Given the description of an element on the screen output the (x, y) to click on. 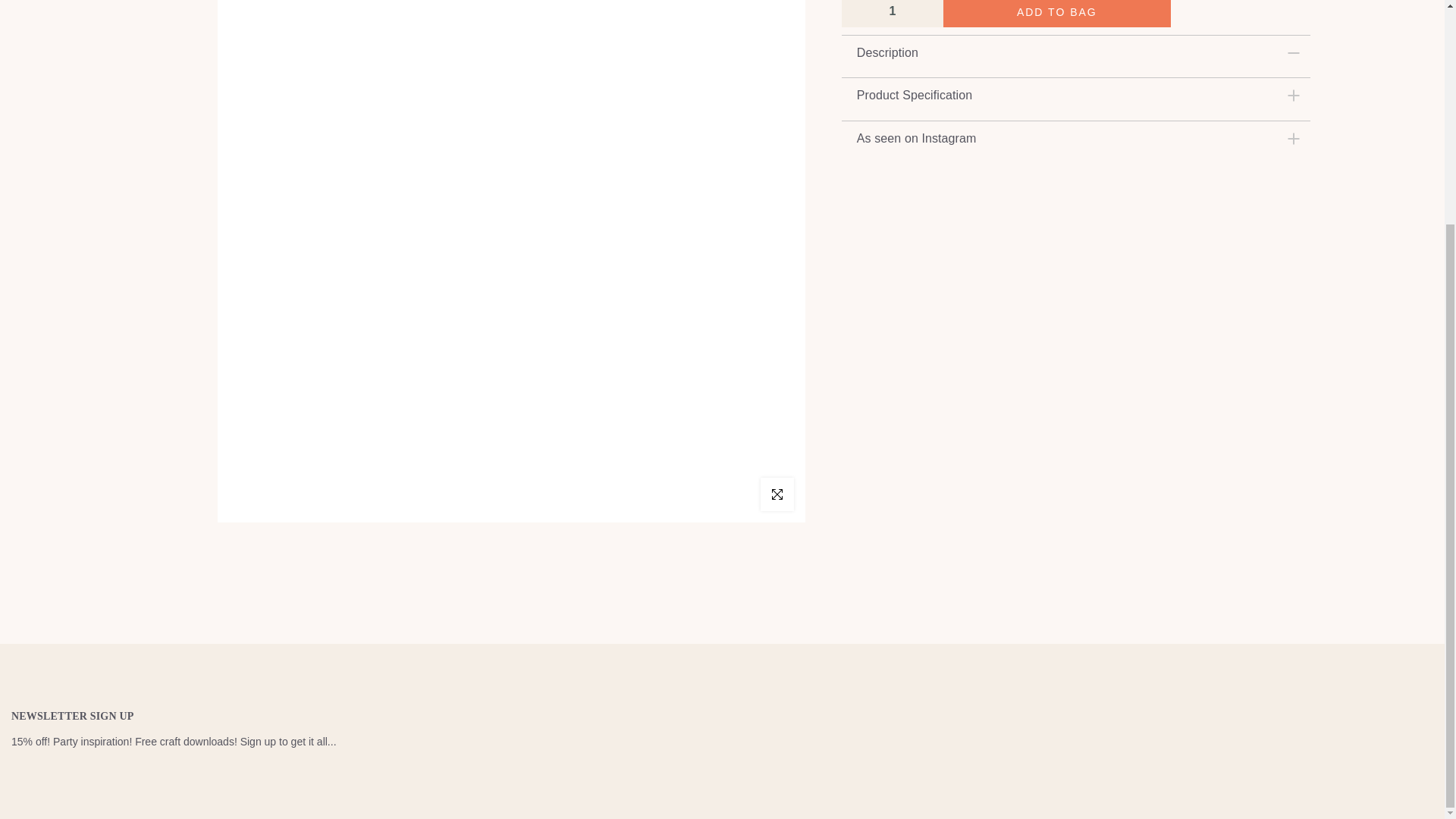
Product Specification (1076, 94)
ADD TO BAG (1056, 13)
1 (892, 12)
As seen on Instagram (1076, 138)
Description (1076, 52)
